Given the description of an element on the screen output the (x, y) to click on. 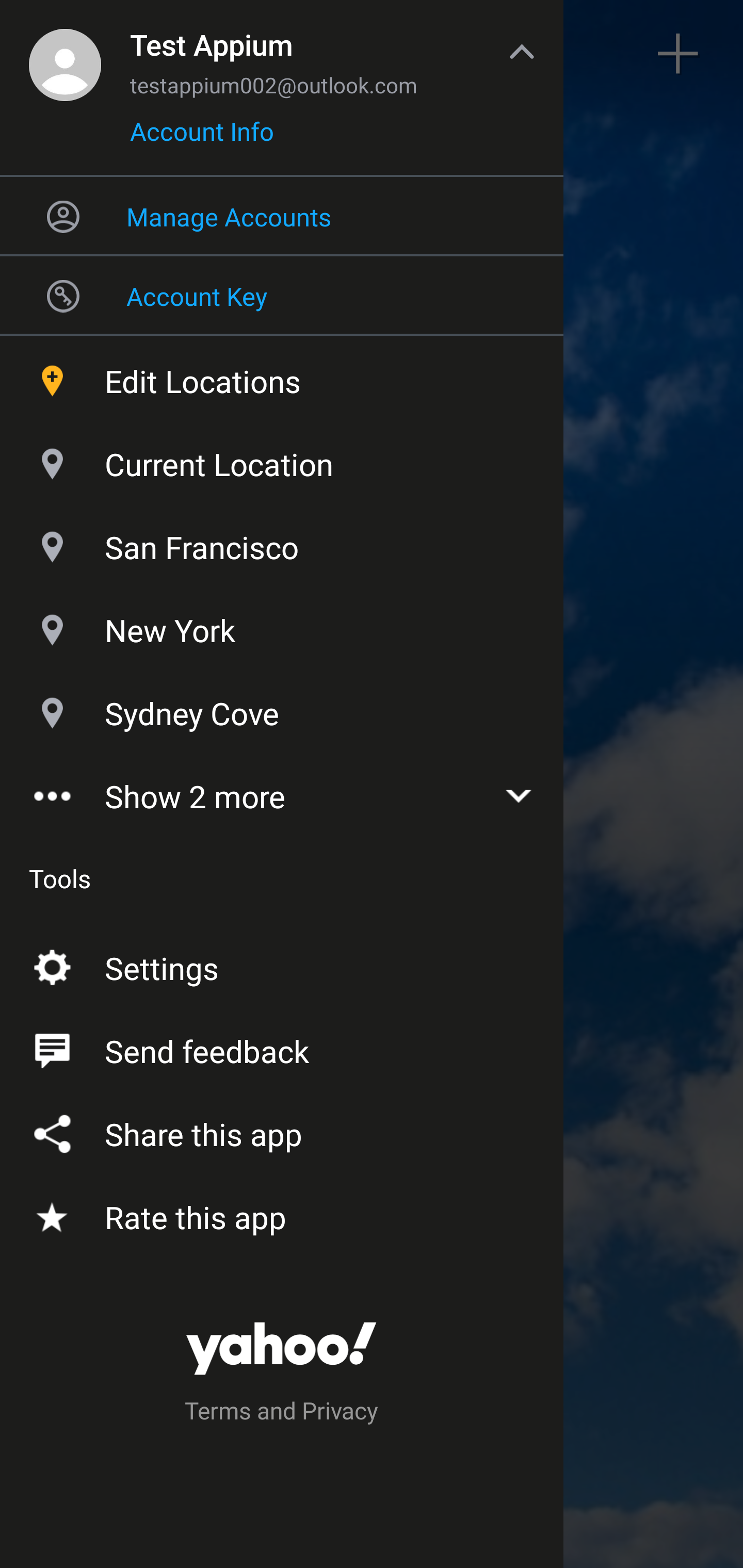
Sidebar (64, 54)
Account Info (202, 137)
Manage Accounts (281, 216)
Account Key (281, 295)
Edit Locations (281, 376)
Current Location (281, 459)
San Francisco (281, 542)
New York (281, 625)
Sydney Cove (281, 709)
Settings (281, 963)
Send feedback (281, 1046)
Share this app (281, 1129)
Terms and Privacy Terms and privacy button (281, 1413)
